Given the description of an element on the screen output the (x, y) to click on. 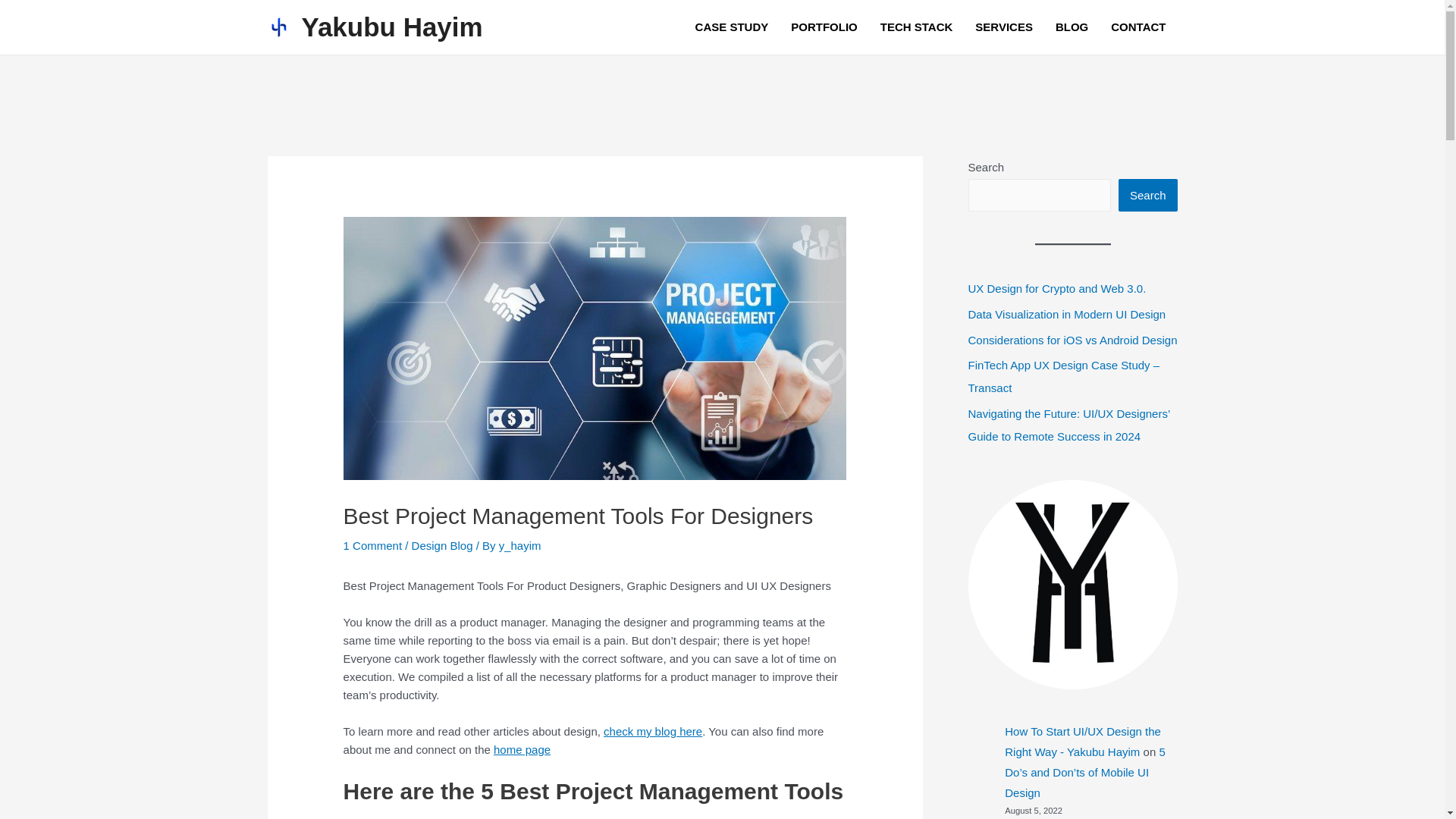
check my blog here (652, 730)
Design Blog (442, 545)
Search (1147, 195)
PORTFOLIO (823, 27)
TECH STACK (916, 27)
Considerations for iOS vs Android Design (1072, 339)
CASE STUDY (732, 27)
Yakubu Hayim (392, 26)
BLOG (1071, 27)
Data Visualization in Modern UI Design (1067, 314)
